Given the description of an element on the screen output the (x, y) to click on. 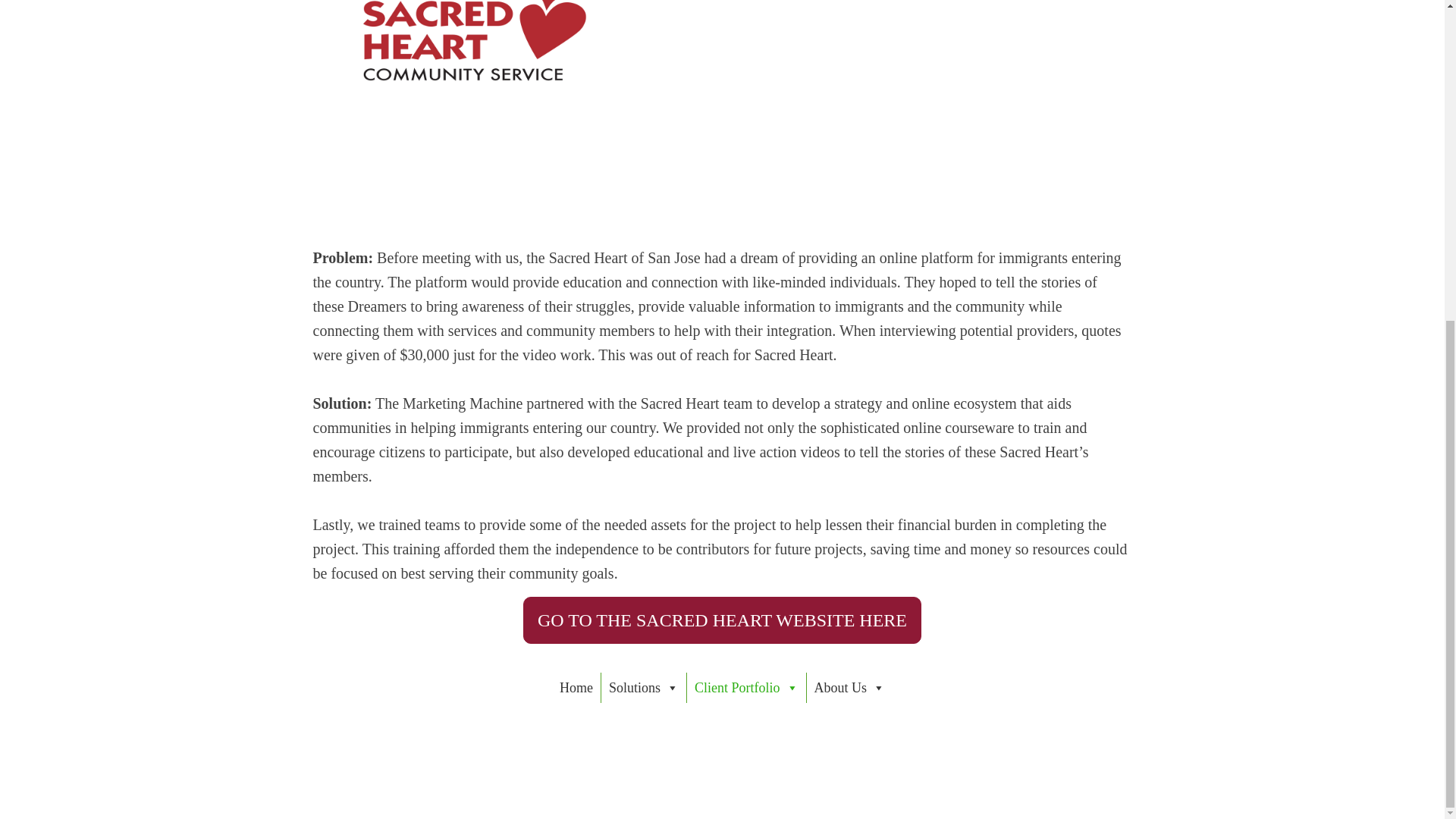
About Us (849, 687)
Home (575, 687)
Client Portfolio (746, 687)
GO TO THE SACRED HEART WEBSITE HERE (721, 620)
Solutions (643, 687)
